Given the description of an element on the screen output the (x, y) to click on. 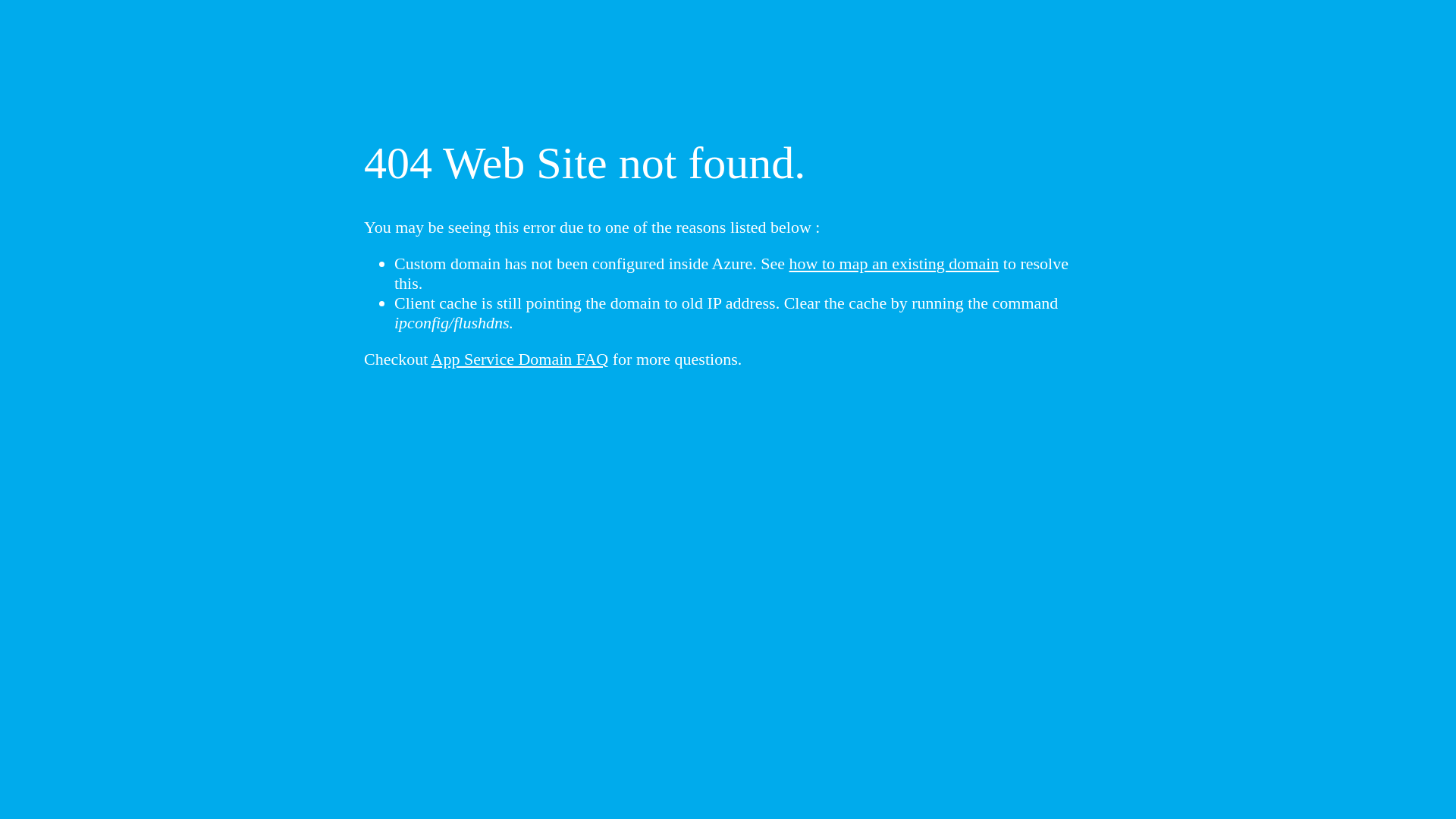
how to map an existing domain Element type: text (894, 263)
App Service Domain FAQ Element type: text (519, 358)
